Given the description of an element on the screen output the (x, y) to click on. 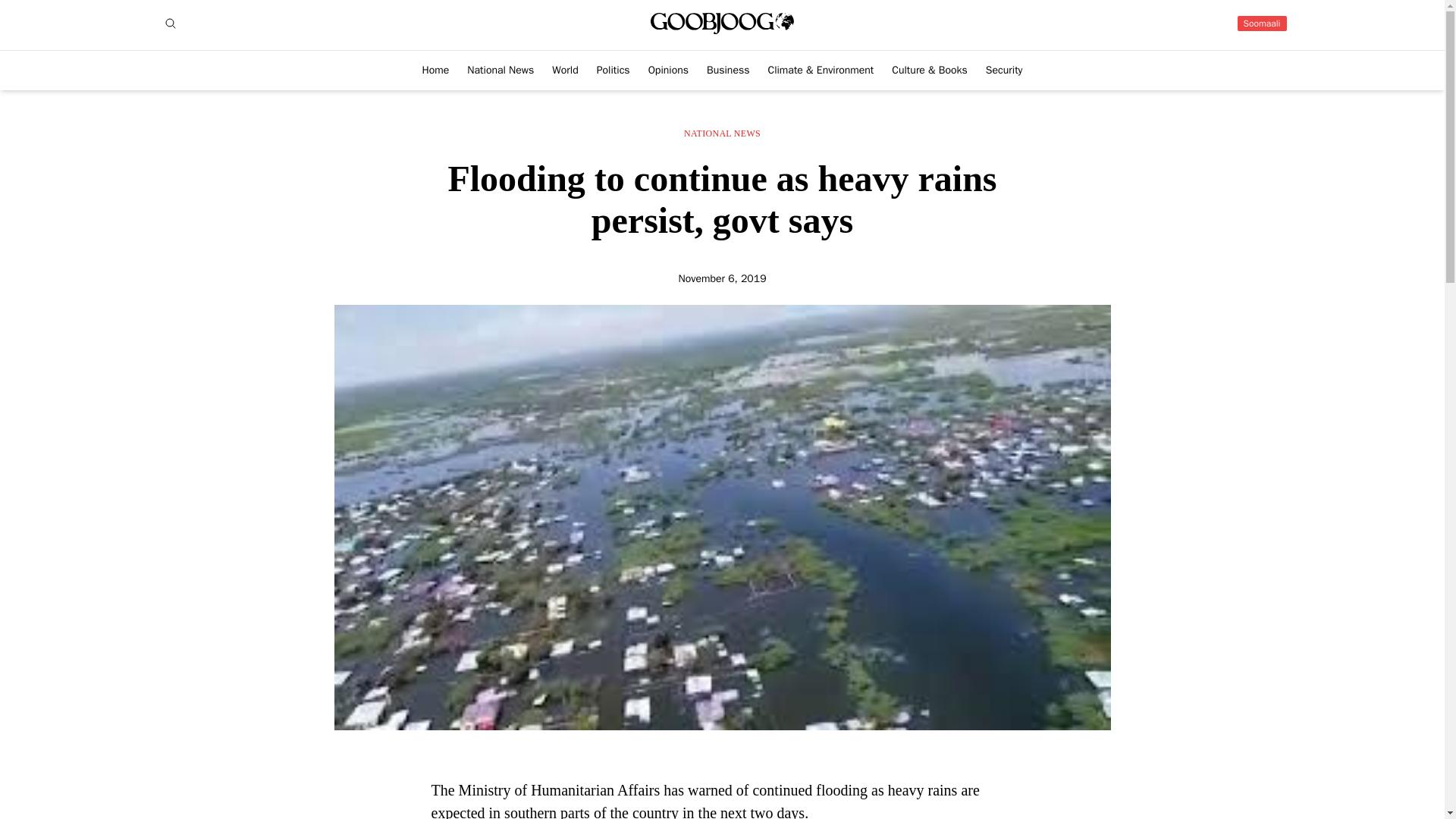
NATIONAL NEWS (722, 132)
Security (1004, 70)
Soomaali (1262, 23)
National News (500, 70)
Search on Goobjoog (169, 23)
Opinions (667, 70)
Business (727, 70)
